Given the description of an element on the screen output the (x, y) to click on. 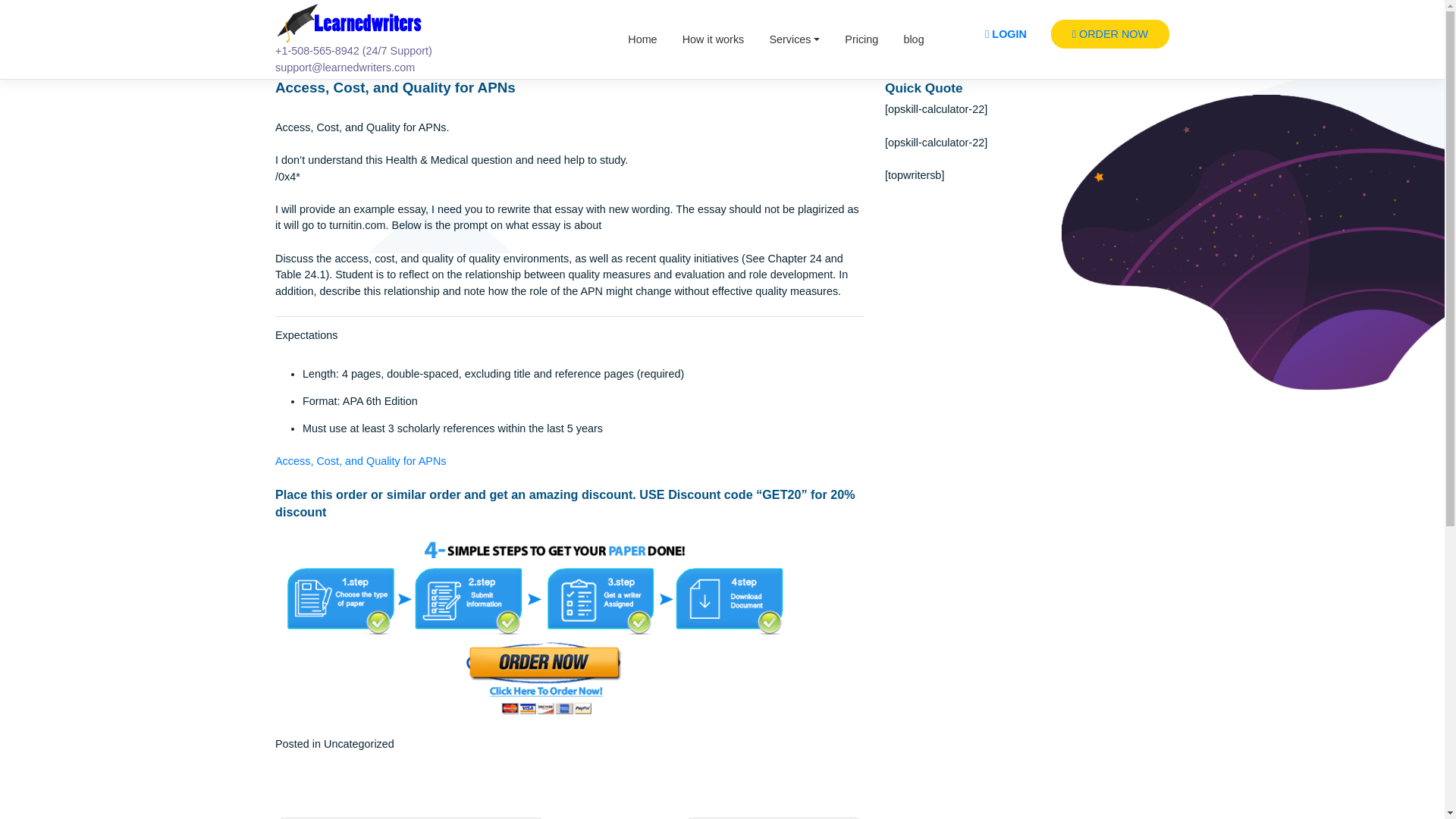
LOGIN (1117, 37)
How it works (792, 43)
How it works (792, 43)
Access, Cost, and Quality for APNs (400, 512)
ORDER NOW (1233, 37)
Pricing (957, 43)
Services (882, 43)
Services (882, 43)
ORDER NOW (1233, 37)
LOGIN (1117, 37)
Pricing (957, 43)
